Given the description of an element on the screen output the (x, y) to click on. 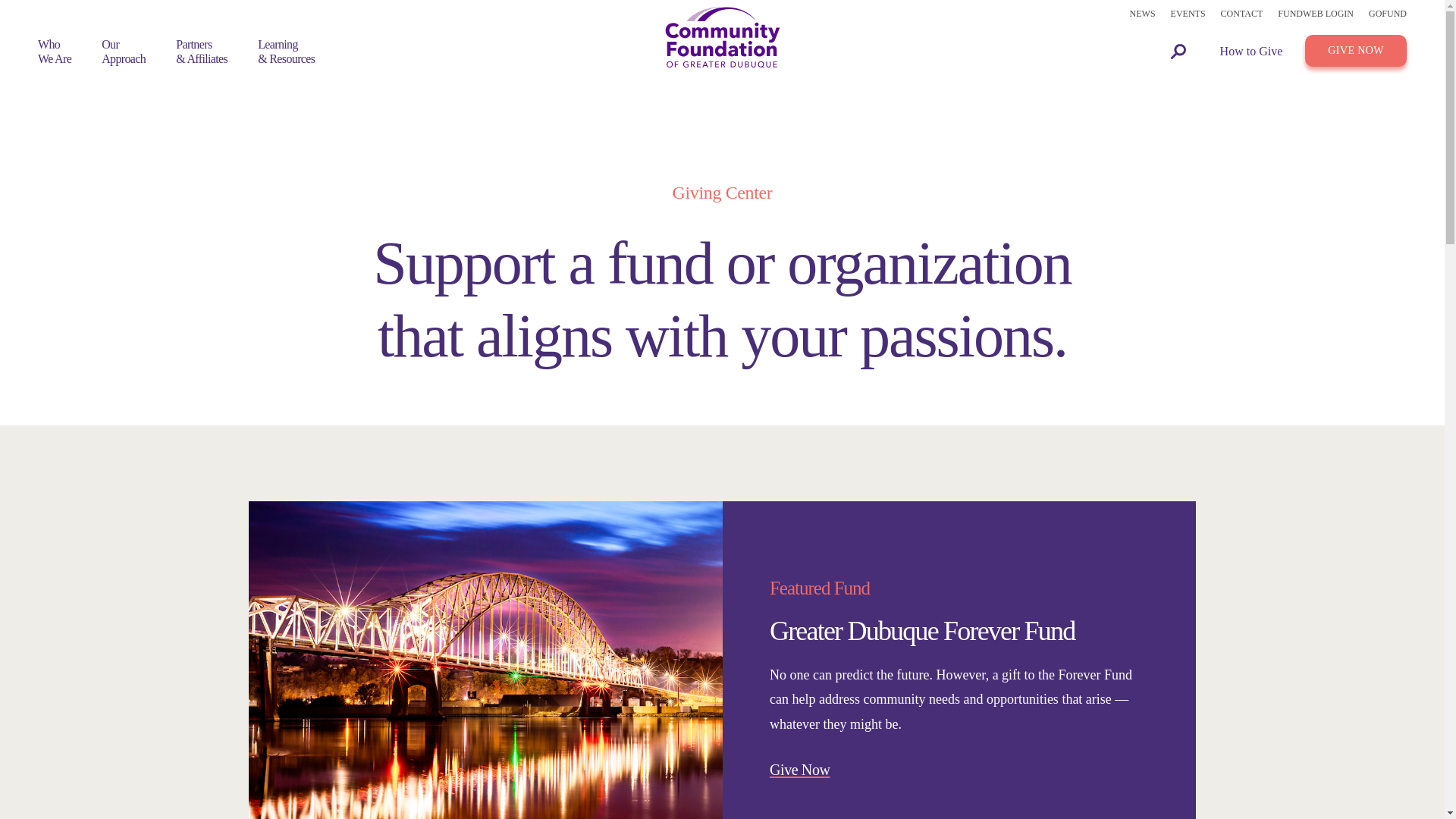
CONTACT (1242, 13)
FUNDWEB LOGIN (1316, 13)
EVENTS (1187, 13)
GOFUND (123, 51)
NEWS (1387, 13)
